Given the description of an element on the screen output the (x, y) to click on. 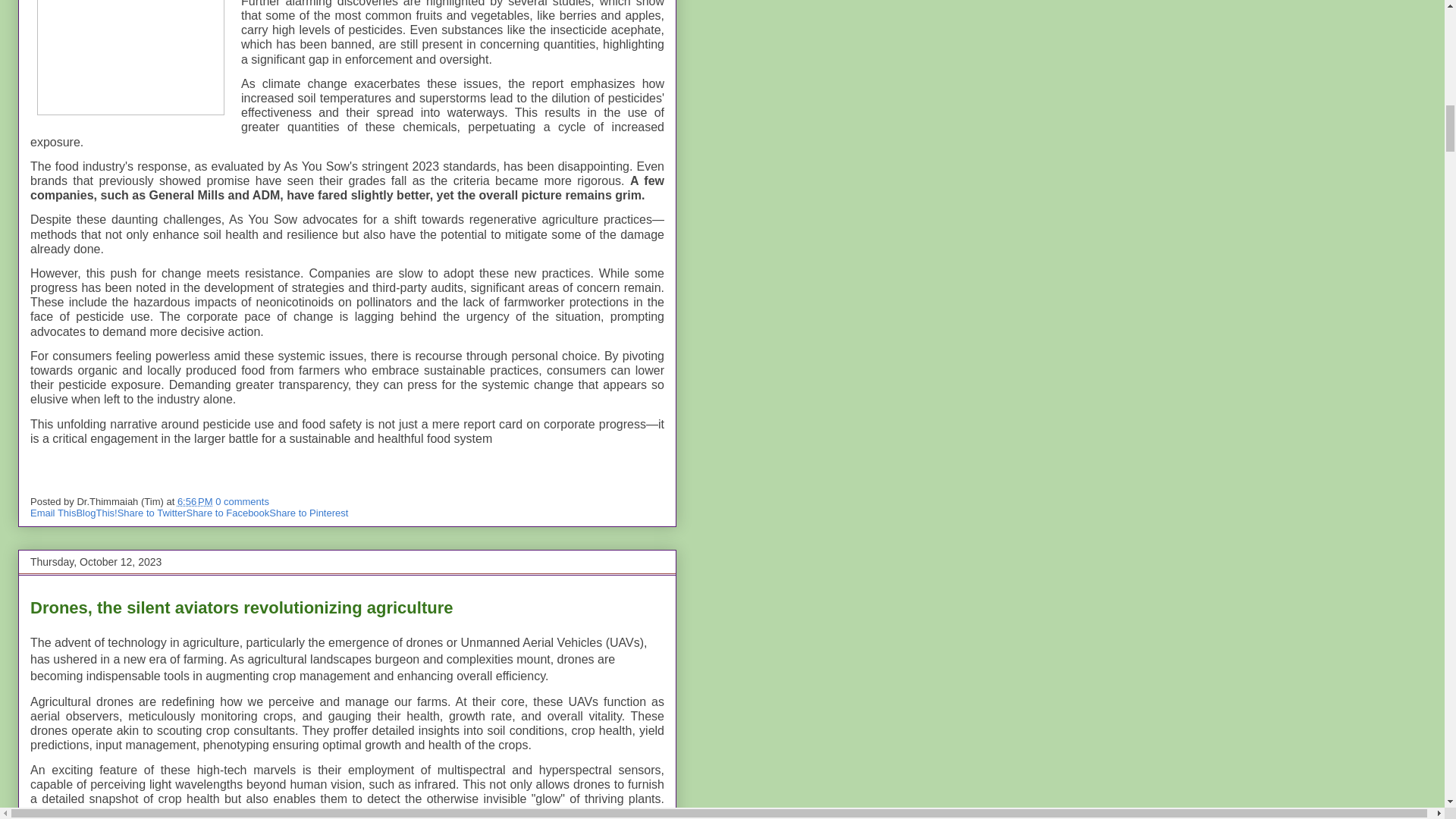
Share to Twitter (151, 512)
0 comments (242, 501)
Email This (52, 512)
Share to Pinterest (308, 512)
Share to Twitter (151, 512)
BlogThis! (95, 512)
permanent link (194, 501)
Share to Facebook (227, 512)
BlogThis! (95, 512)
Drones, the silent aviators revolutionizing agriculture (241, 607)
Share to Facebook (227, 512)
Email This (52, 512)
Share to Pinterest (308, 512)
